Given the description of an element on the screen output the (x, y) to click on. 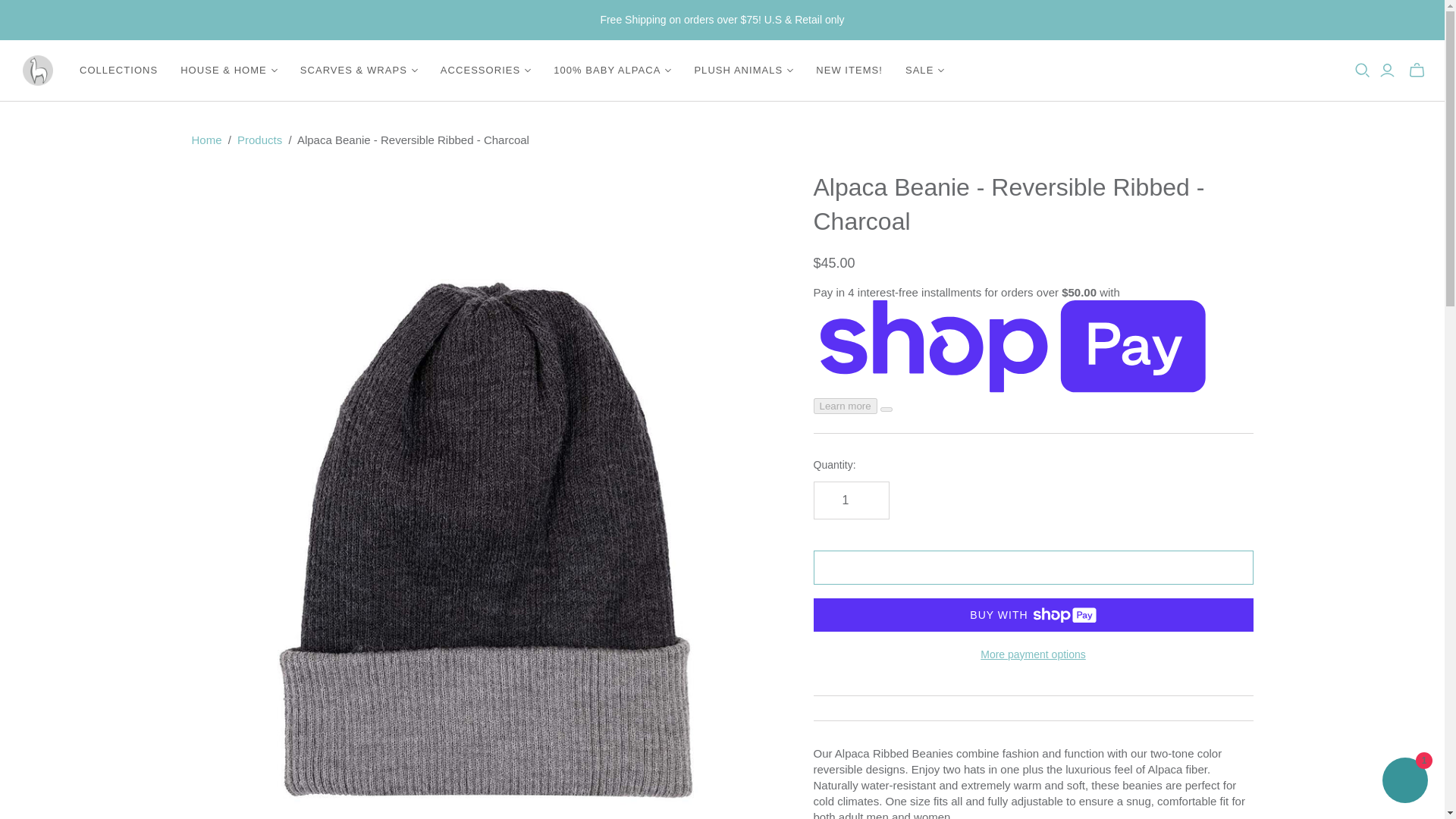
1 (850, 500)
Shopify online store chat (1404, 781)
COLLECTIONS (118, 70)
